Given the description of an element on the screen output the (x, y) to click on. 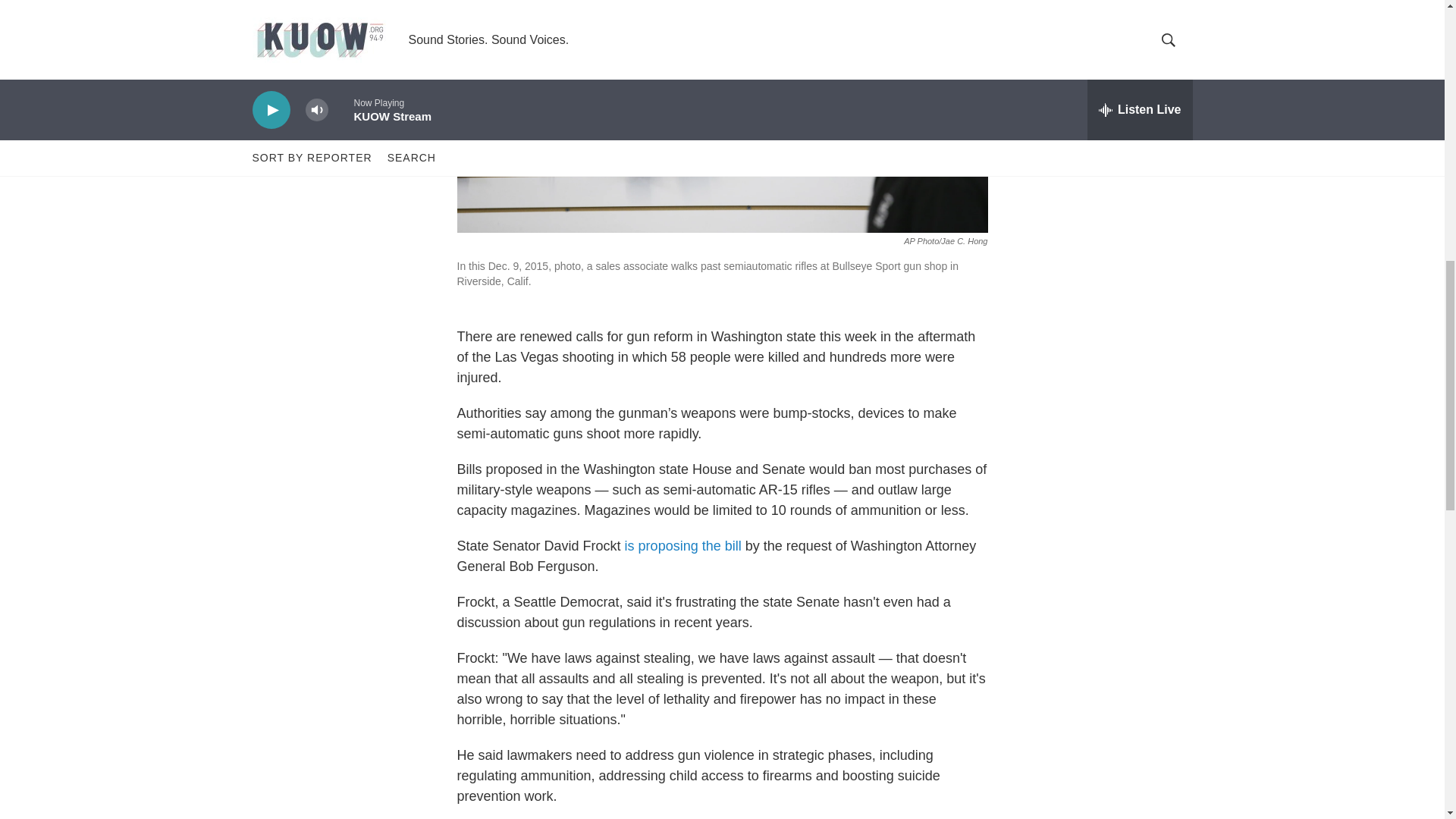
is proposing the bill (682, 545)
